Given the description of an element on the screen output the (x, y) to click on. 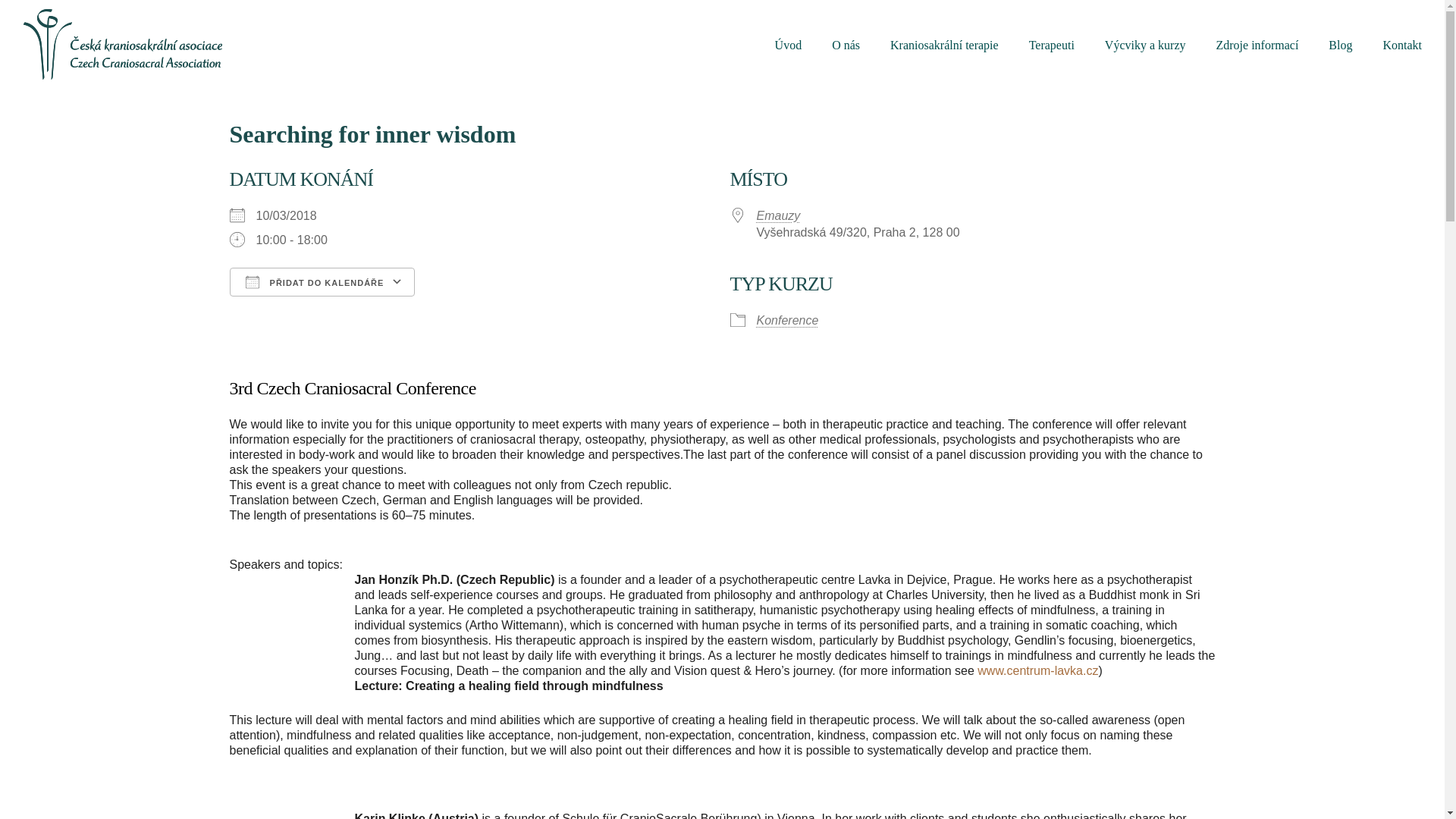
www.centrum-lavka.cz (1036, 670)
Emauzy (778, 215)
Download ICS (245, 308)
Konference (787, 319)
